Given the description of an element on the screen output the (x, y) to click on. 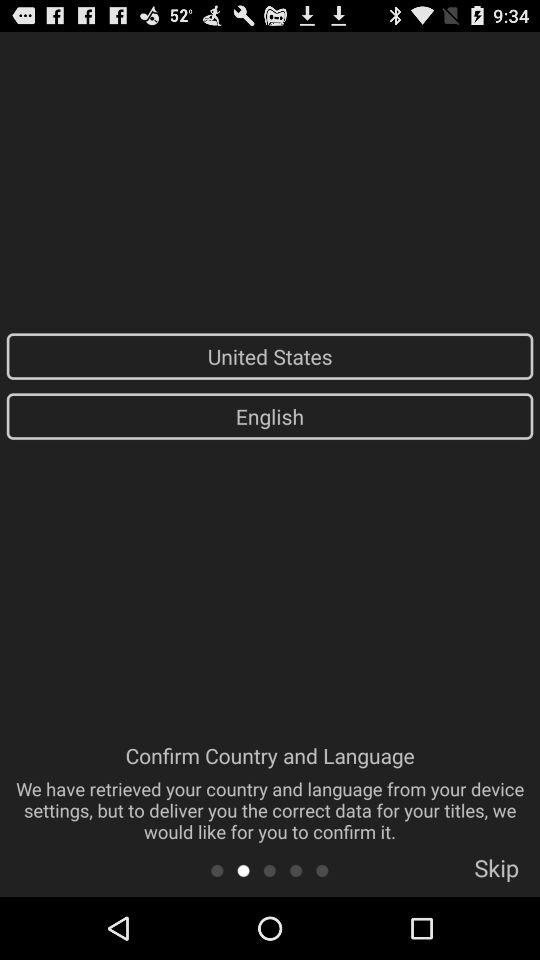
select the item below confirm country and item (496, 873)
